Given the description of an element on the screen output the (x, y) to click on. 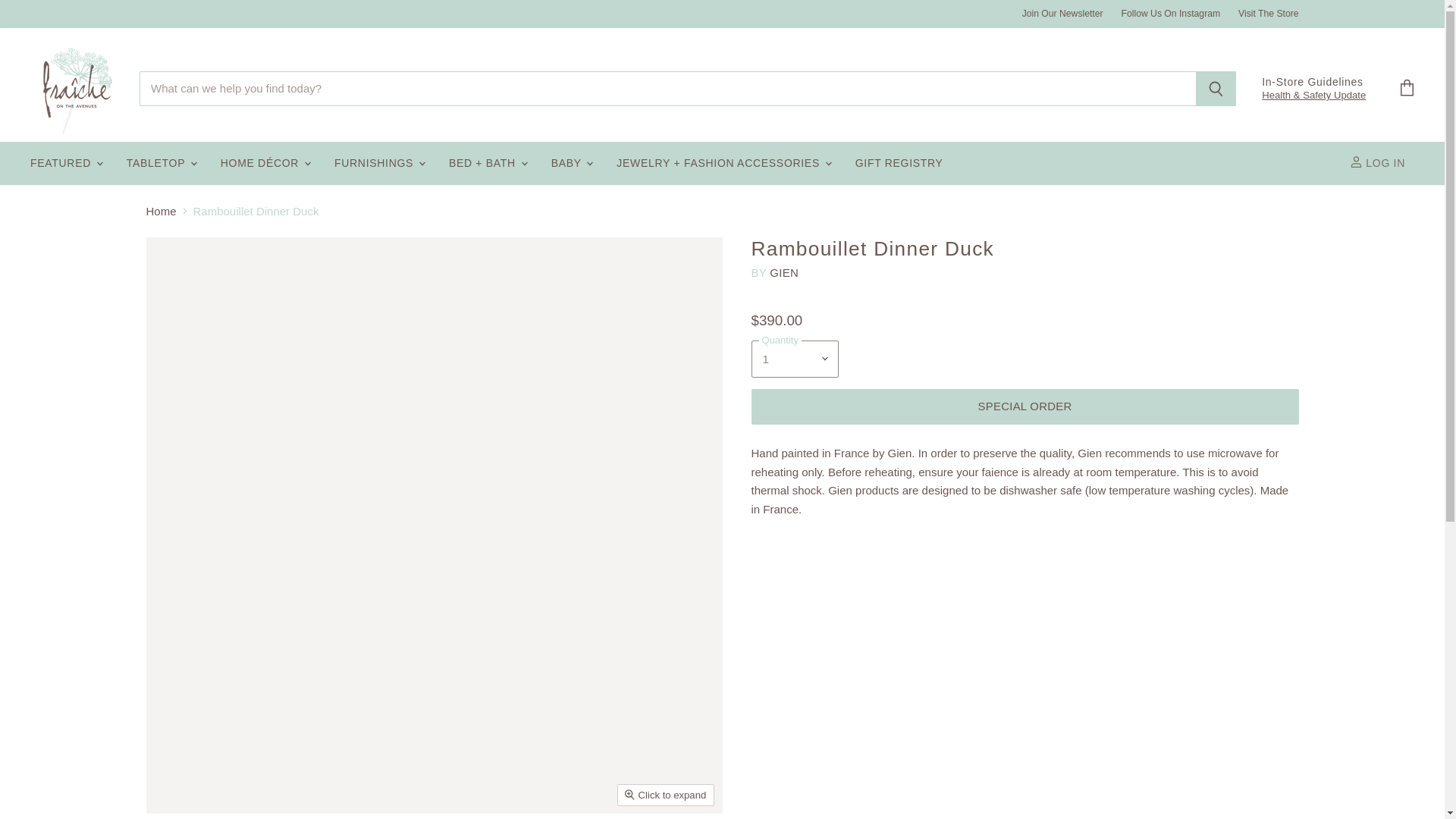
Follow Us On Instagram (1171, 13)
Visit The Store (1268, 13)
Gien (783, 272)
FEATURED (65, 163)
TABLETOP (160, 163)
Join Our Newsletter (1062, 13)
ACCOUNT ICON (1355, 161)
